Given the description of an element on the screen output the (x, y) to click on. 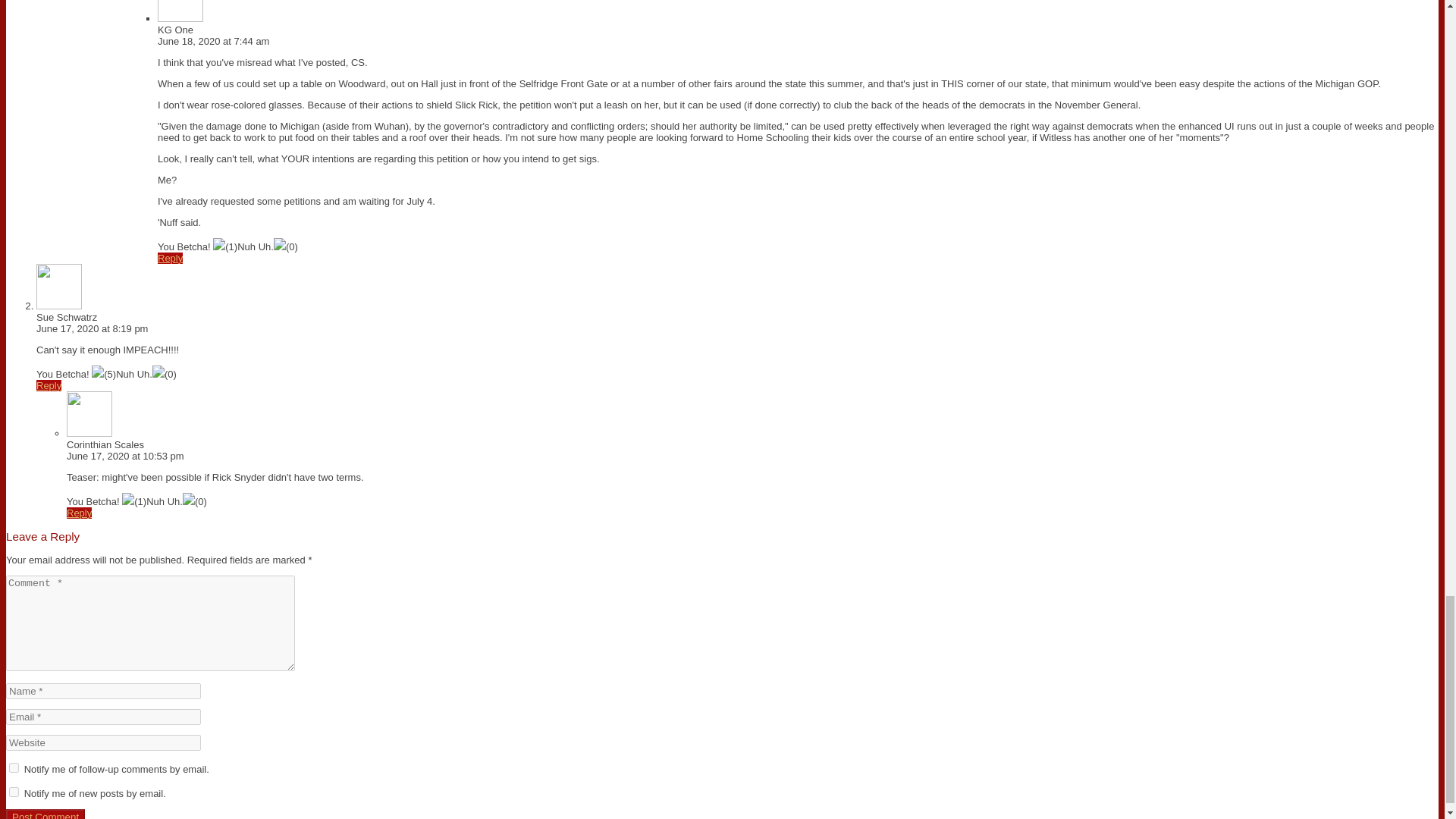
subscribe (13, 767)
subscribe (13, 791)
